Given the description of an element on the screen output the (x, y) to click on. 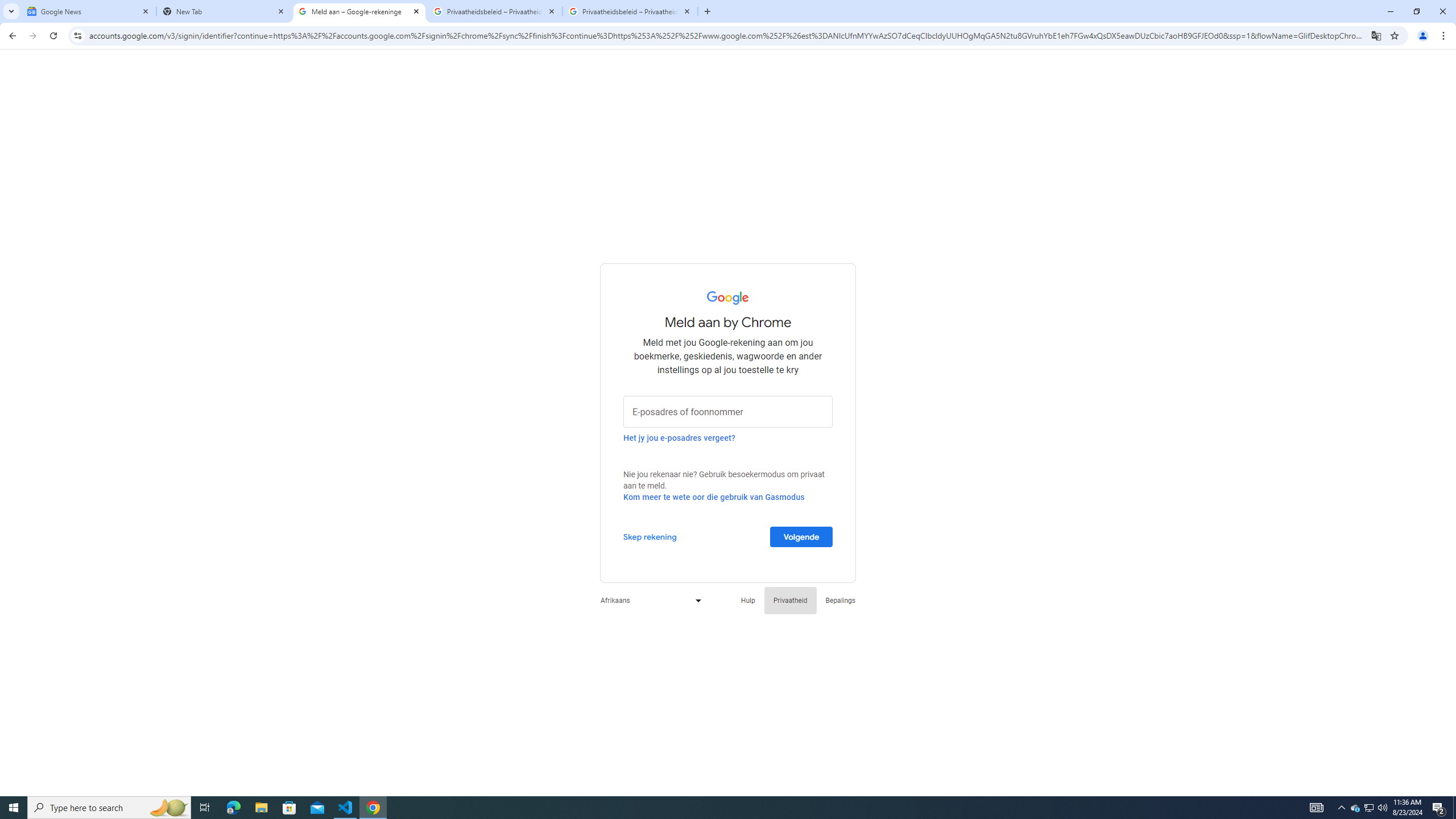
Volgende (801, 536)
Kom meer te wete oor die gebruik van Gasmodus (713, 497)
Privaatheid (790, 600)
Skep rekening (649, 536)
Bepalings (840, 600)
Afrikaans (647, 600)
